Given the description of an element on the screen output the (x, y) to click on. 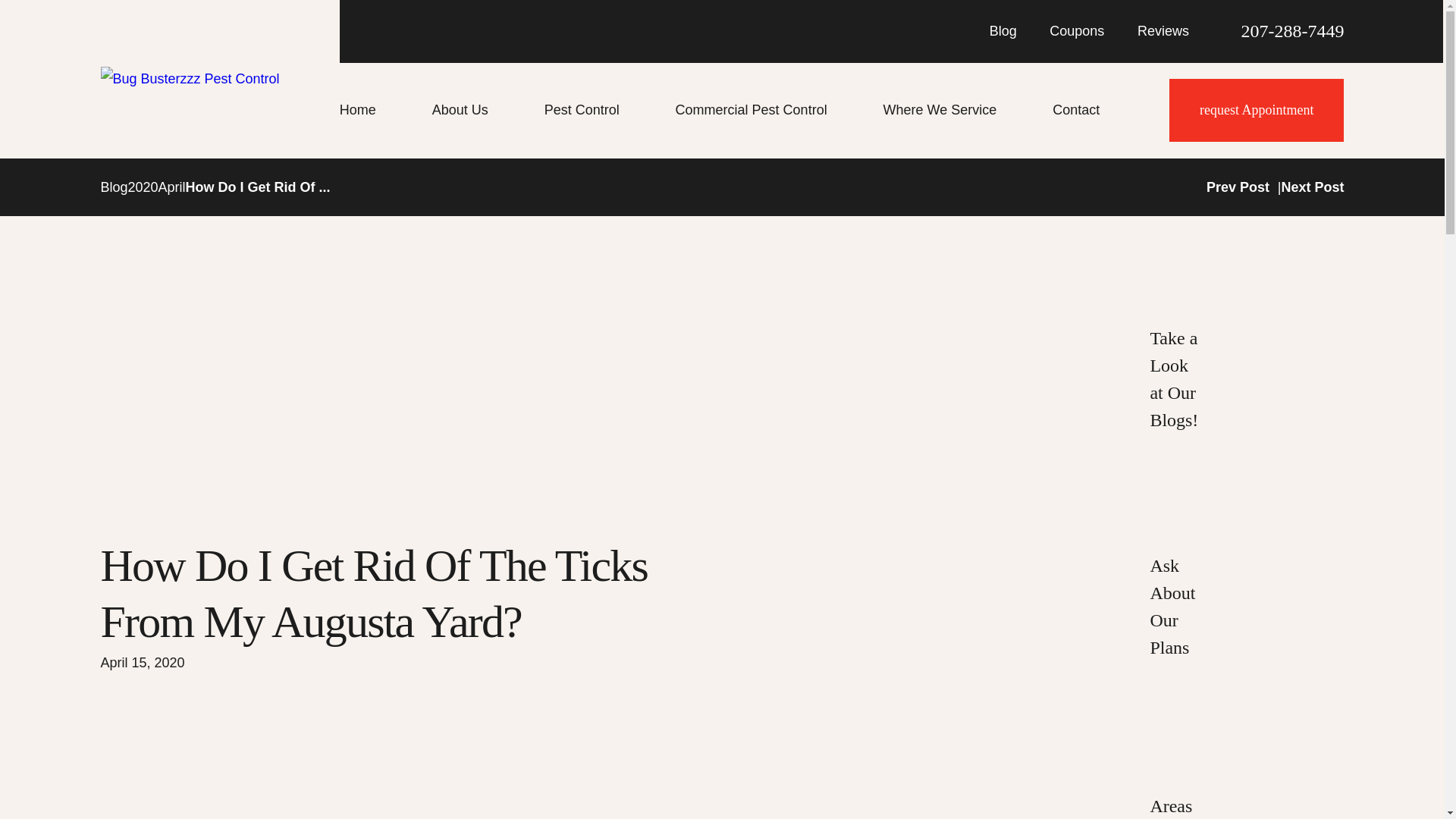
Commercial Pest Control (773, 110)
Coupons (1076, 30)
request Appointment (1256, 109)
Bug Busterzzz Pest Control (189, 78)
About Us (483, 110)
Home (380, 110)
Open the accessibility options menu (1412, 786)
Where We Service (962, 110)
Blog (1003, 30)
Reviews (1163, 30)
